Given the description of an element on the screen output the (x, y) to click on. 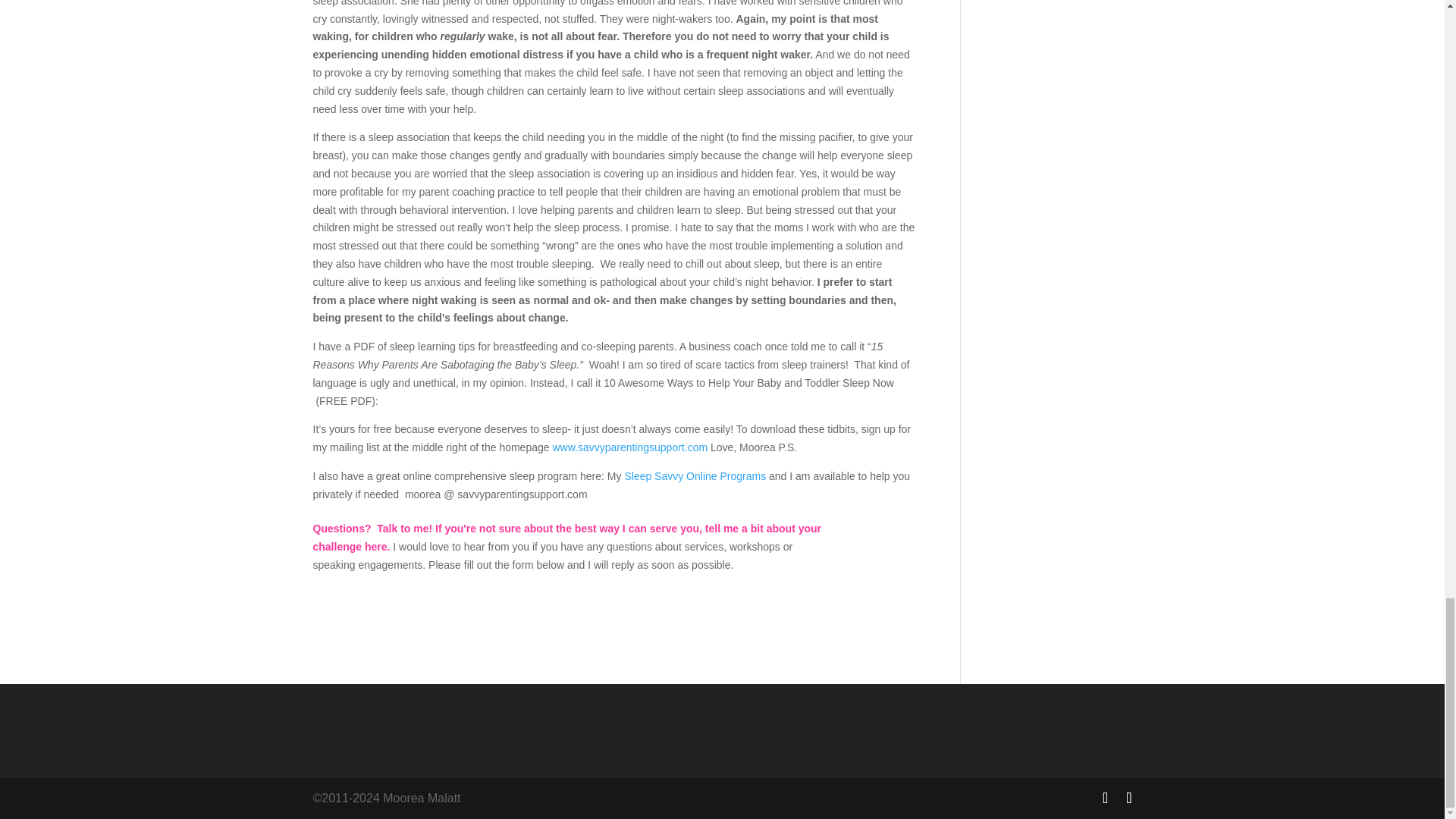
www.savvyparentingsupport.com (629, 447)
Sleep Savvy Online Programs (694, 476)
